Given the description of an element on the screen output the (x, y) to click on. 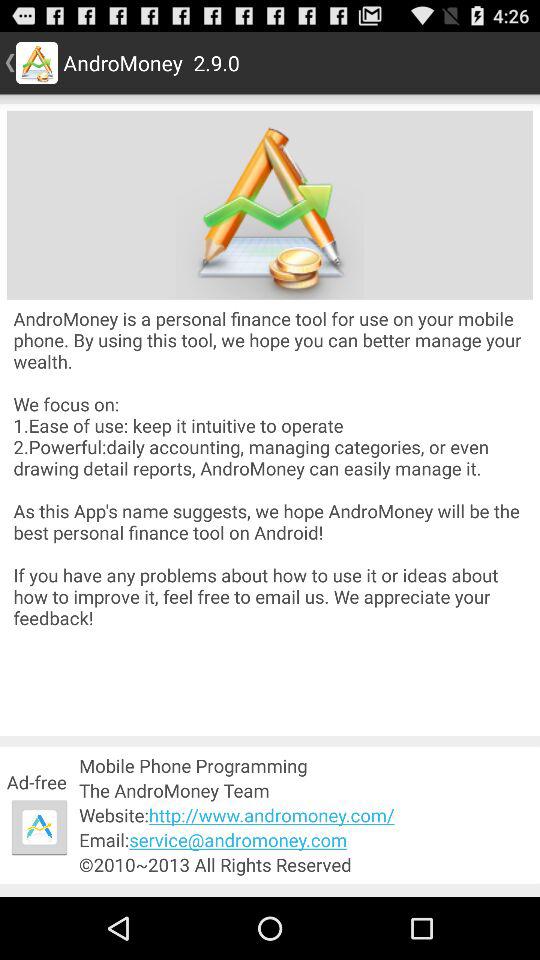
swipe until email service andromoney app (306, 839)
